Given the description of an element on the screen output the (x, y) to click on. 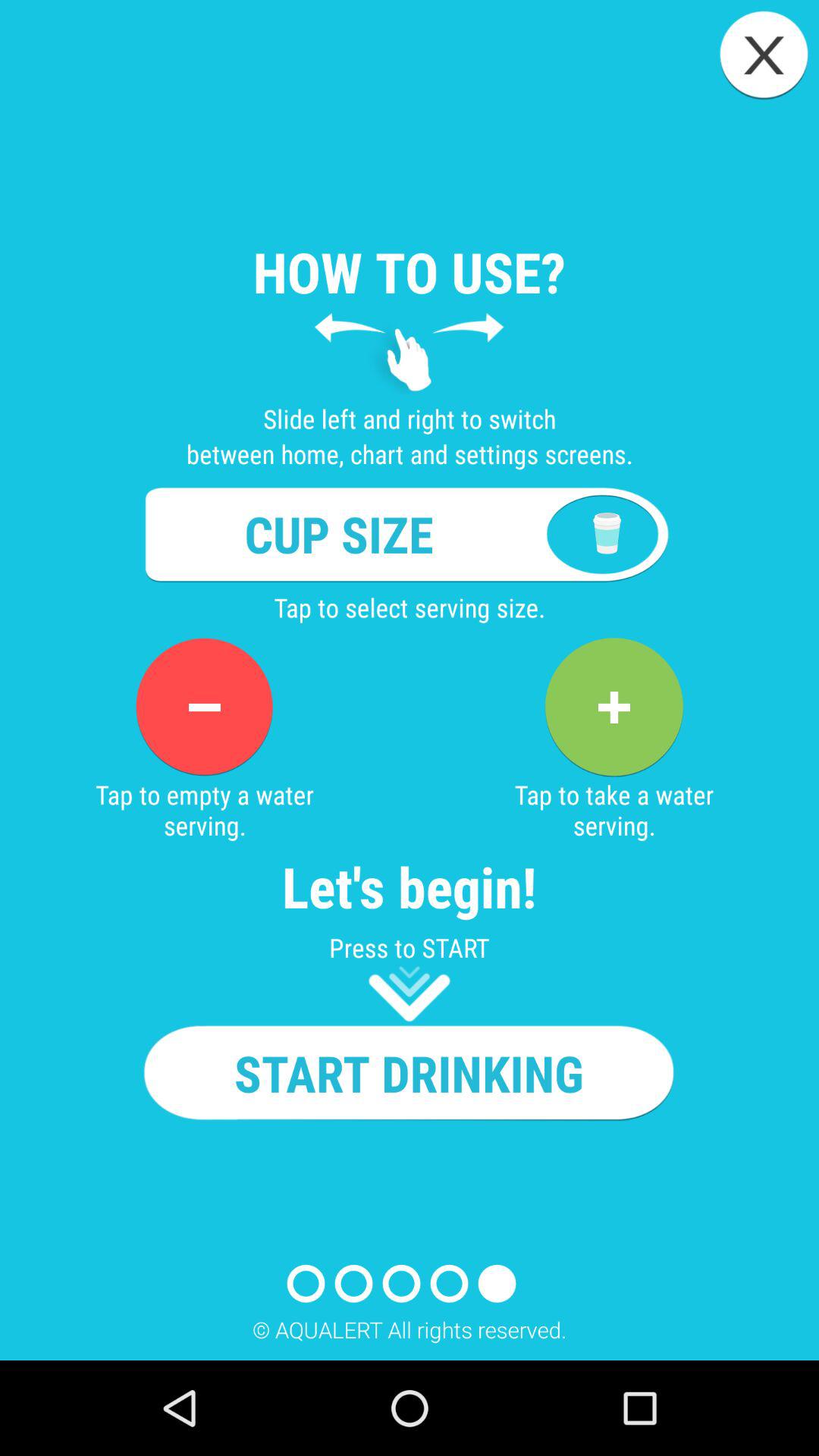
reduce serving (204, 706)
